Given the description of an element on the screen output the (x, y) to click on. 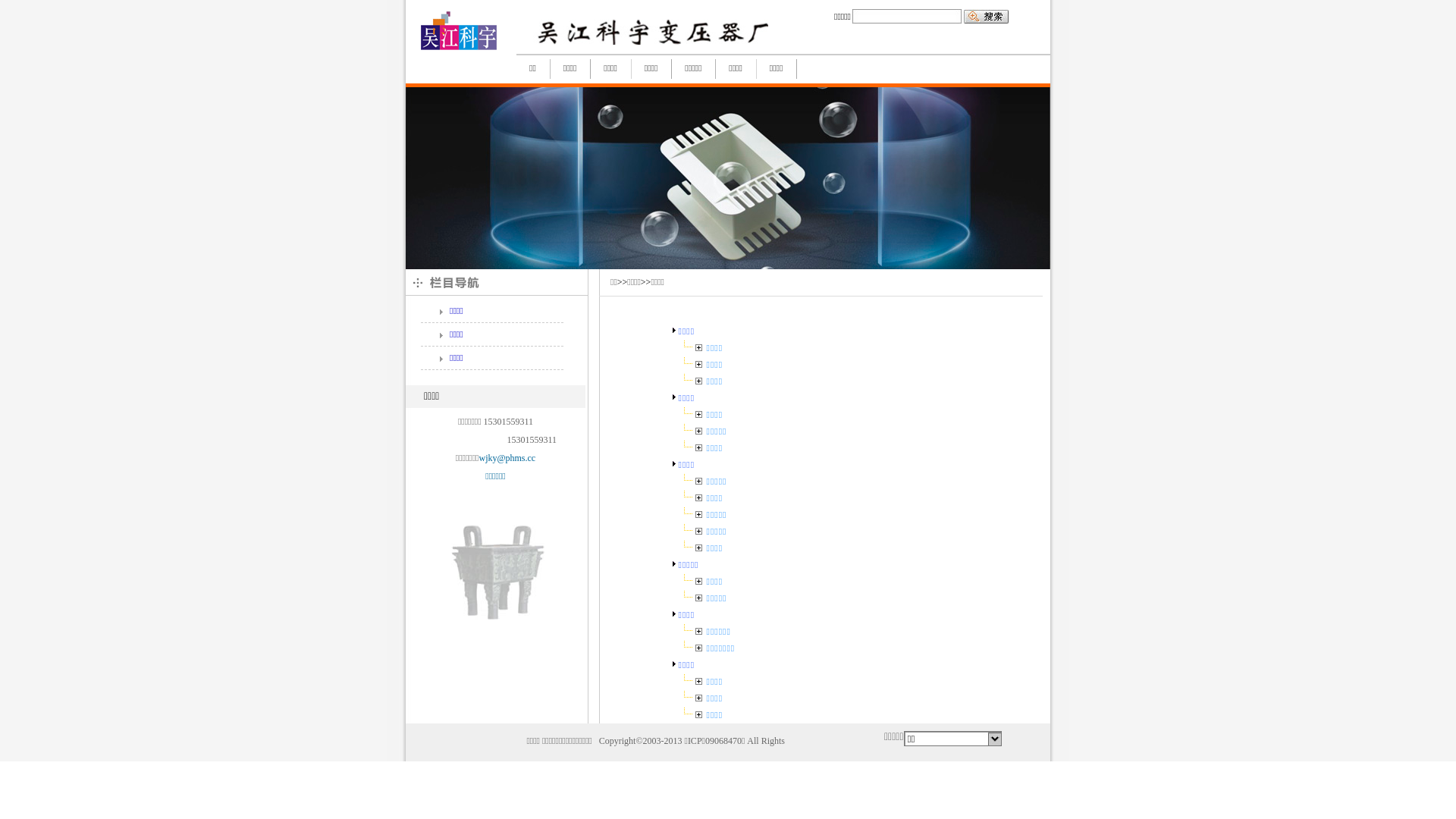
wjky@phms.cc Element type: text (506, 457)
